Given the description of an element on the screen output the (x, y) to click on. 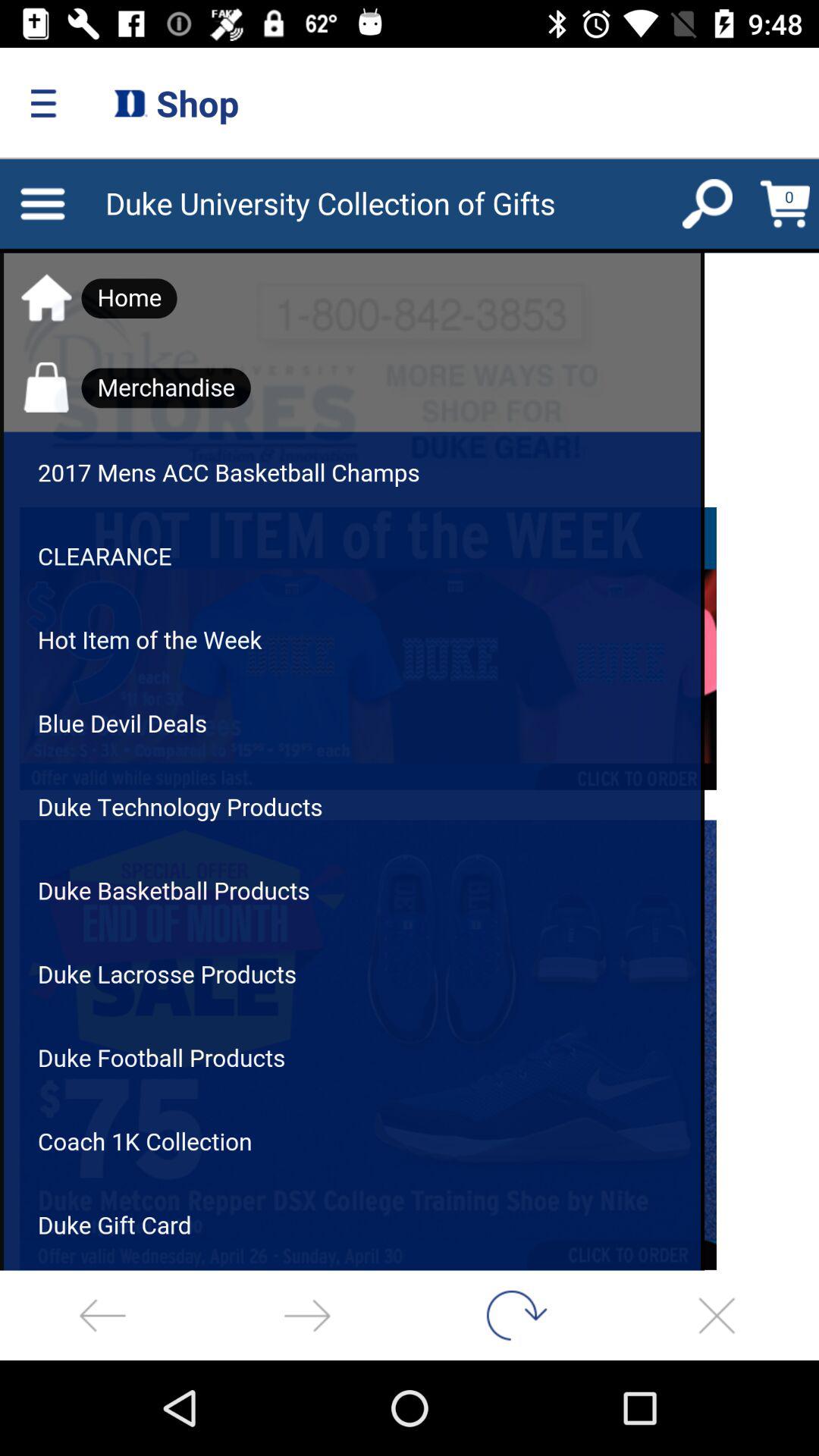
go to next page (306, 1315)
